Given the description of an element on the screen output the (x, y) to click on. 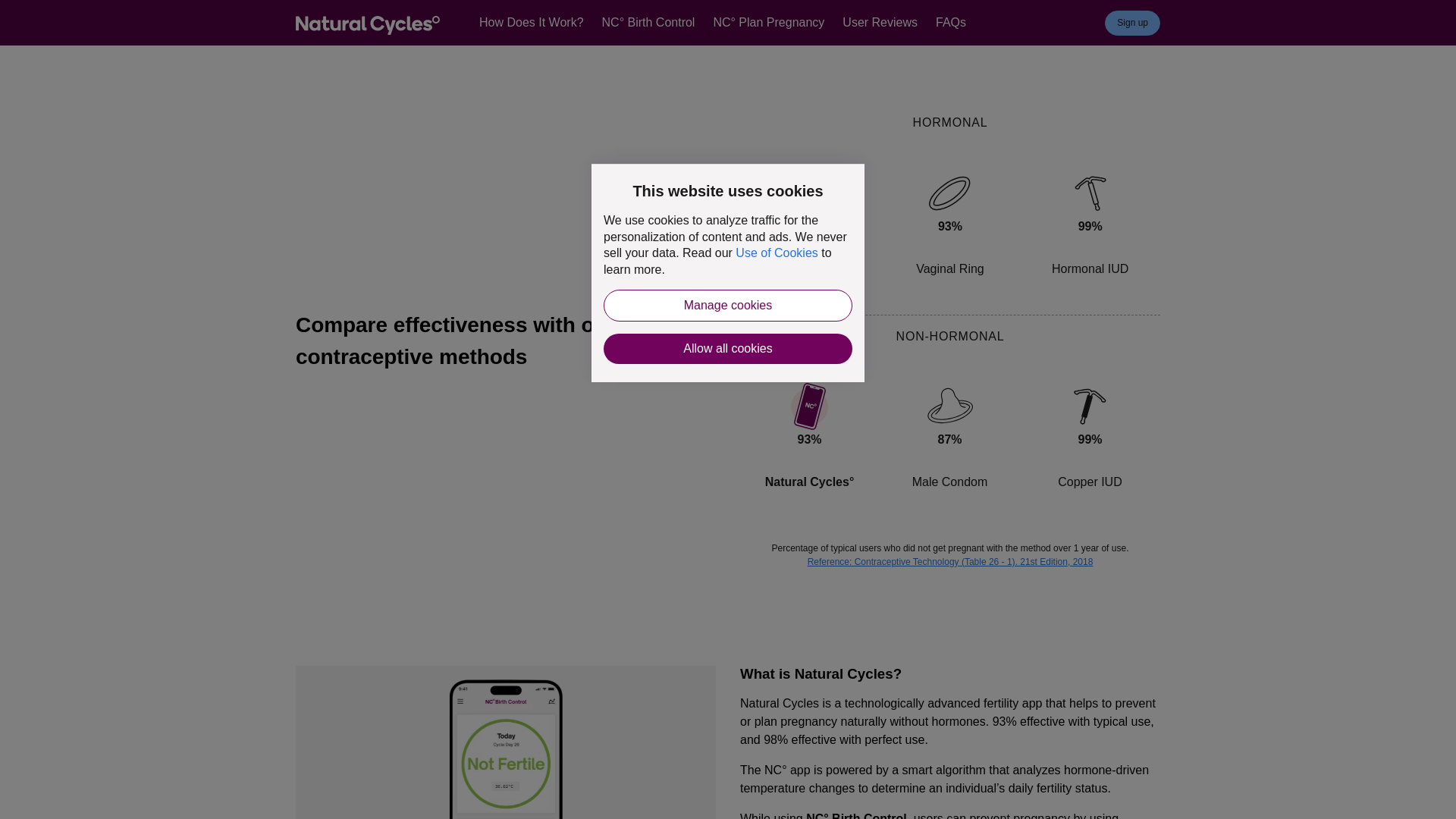
Read instructions for use (876, 14)
Download patient brochure (579, 14)
